Given the description of an element on the screen output the (x, y) to click on. 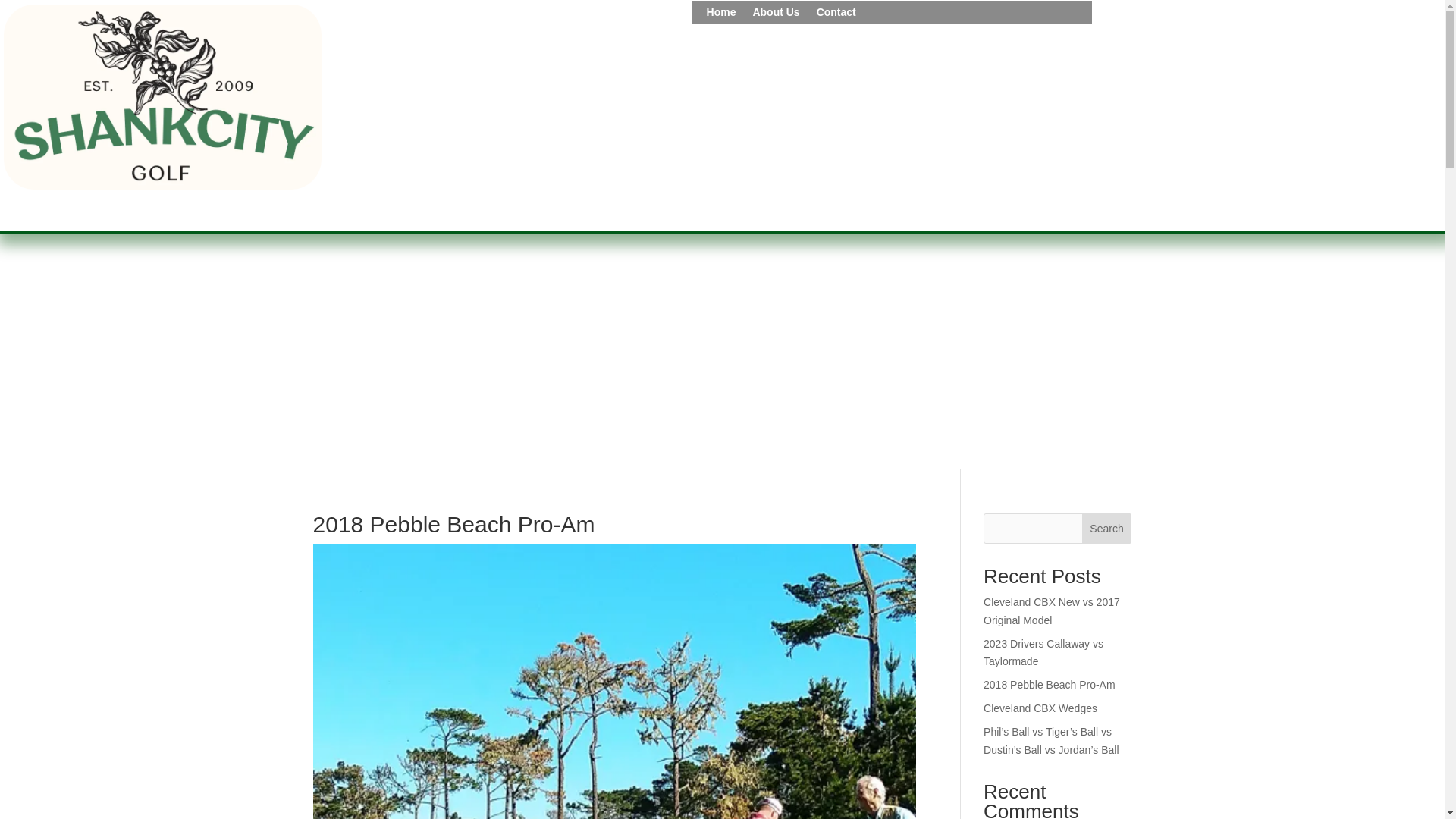
Cleveland CBX Wedges (1040, 707)
2023 Drivers Callaway vs Taylormade (1043, 653)
Home (721, 14)
2018 Pebble Beach Pro-Am (1049, 684)
Contact (836, 14)
About Us (775, 14)
Cleveland CBX New vs 2017 Original Model (1051, 611)
Search (1106, 528)
